Given the description of an element on the screen output the (x, y) to click on. 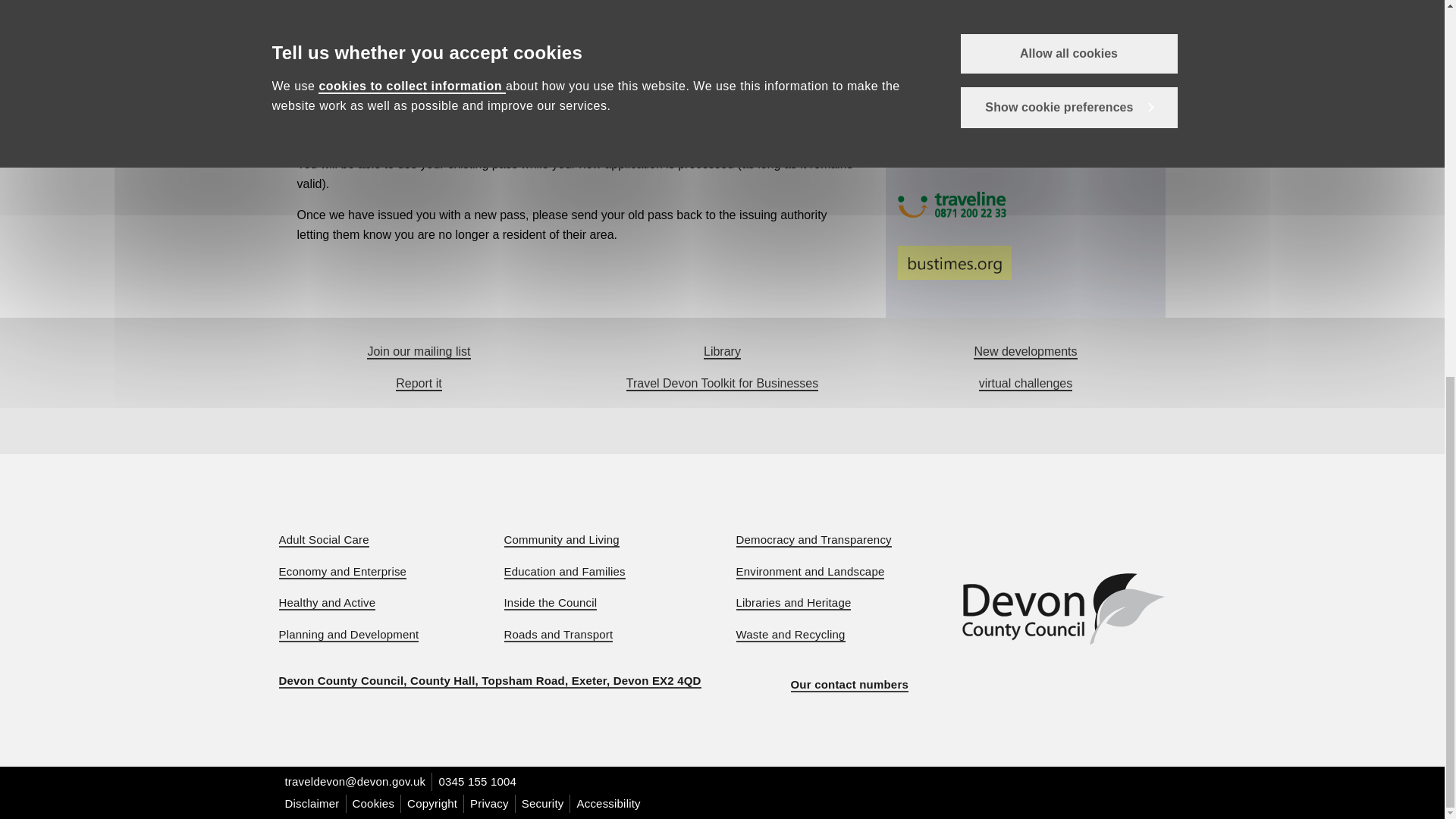
traveline (1032, 204)
Website disclaimer (312, 803)
Copyright policy (432, 803)
Privacy policy (489, 803)
Stagecoach (1032, 151)
bustimes (1032, 262)
Cookie policy (373, 803)
